Given the description of an element on the screen output the (x, y) to click on. 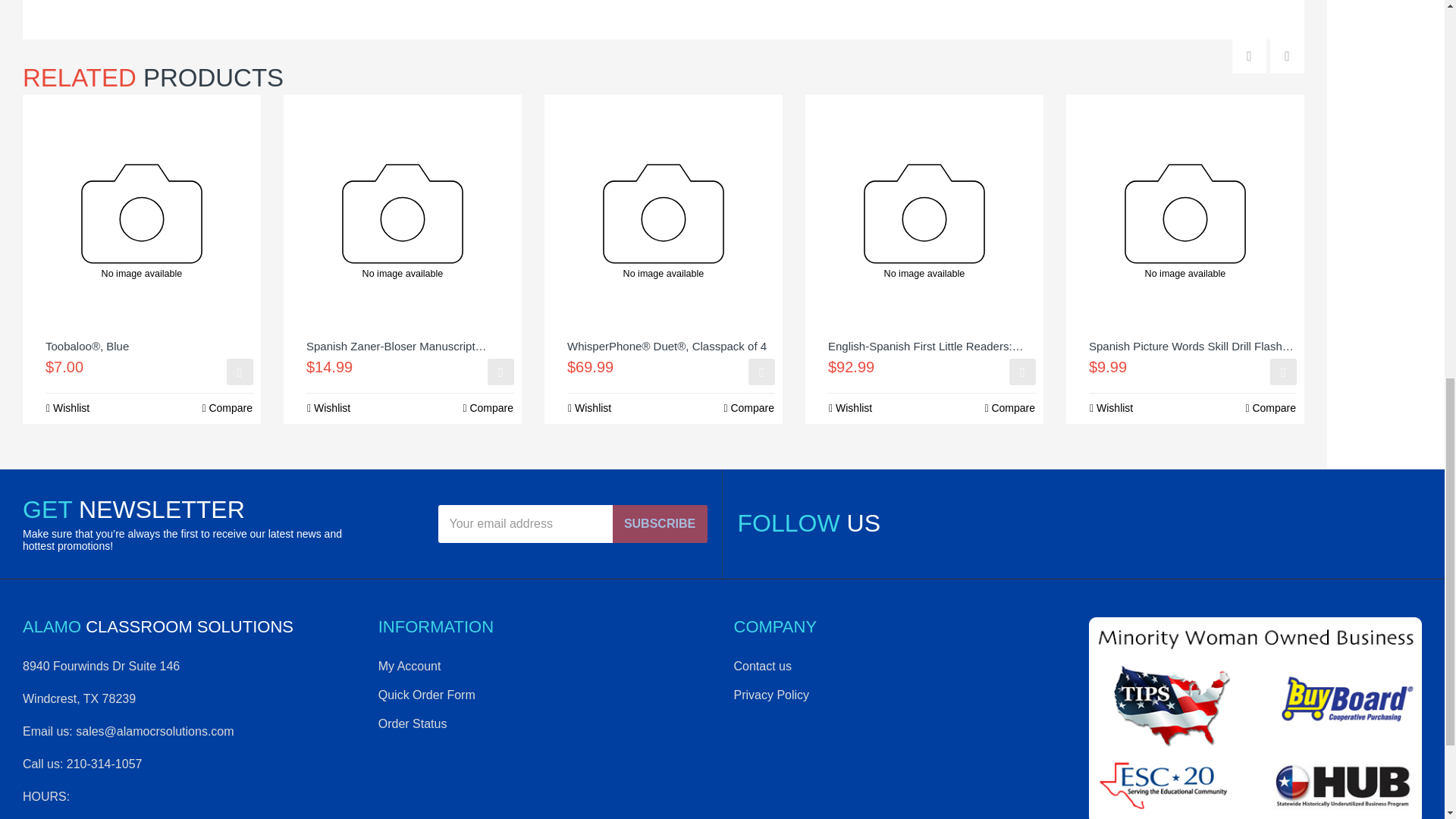
Add to Wishlist (589, 408)
Add to Compare (226, 408)
Add to Wishlist (67, 408)
Add to Wishlist (327, 408)
Add to Compare (487, 408)
